Given the description of an element on the screen output the (x, y) to click on. 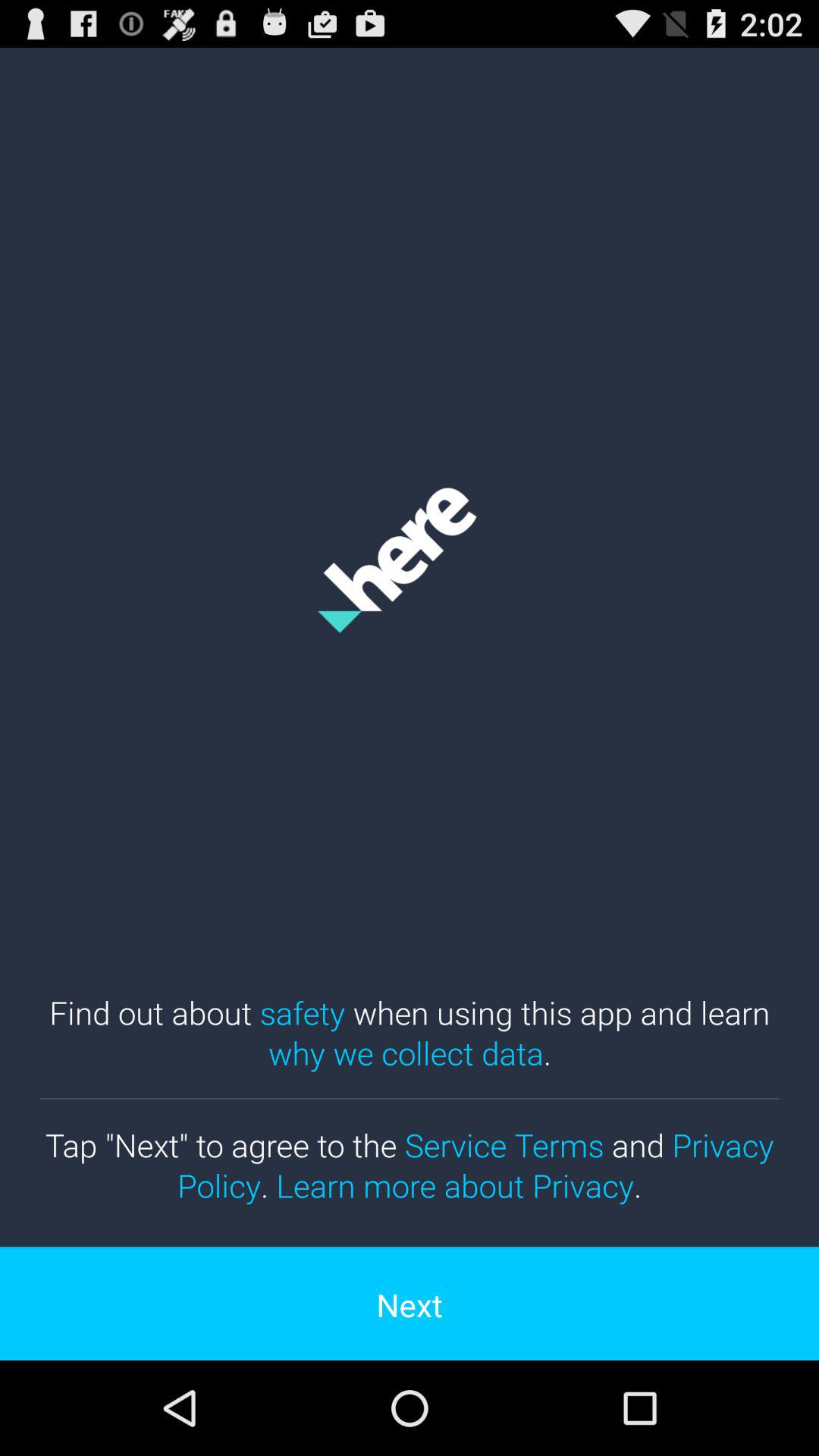
flip until tap next to icon (409, 1164)
